Given the description of an element on the screen output the (x, y) to click on. 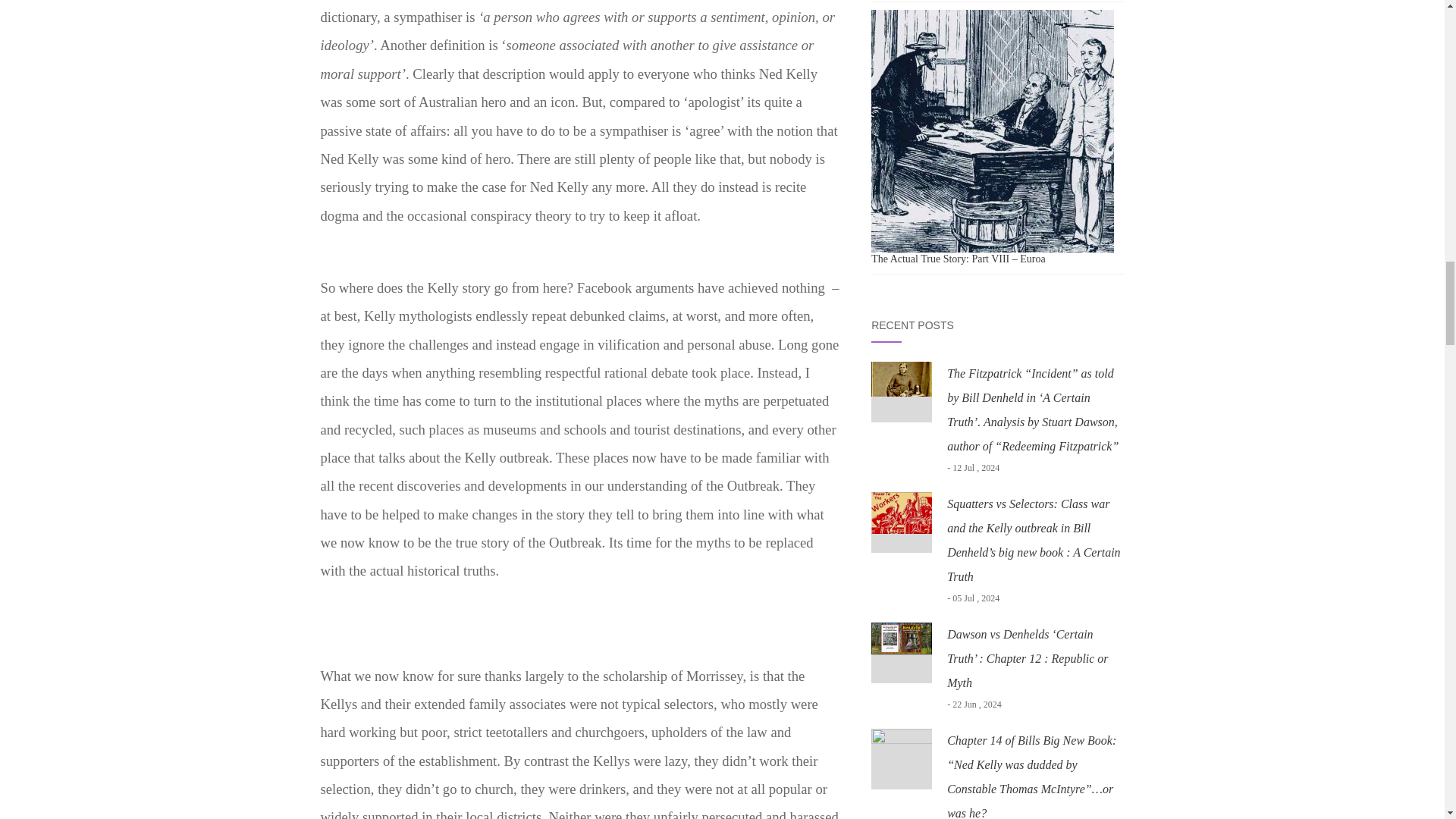
The Actual True Story: Part VIII - Euroa (991, 130)
